Given the description of an element on the screen output the (x, y) to click on. 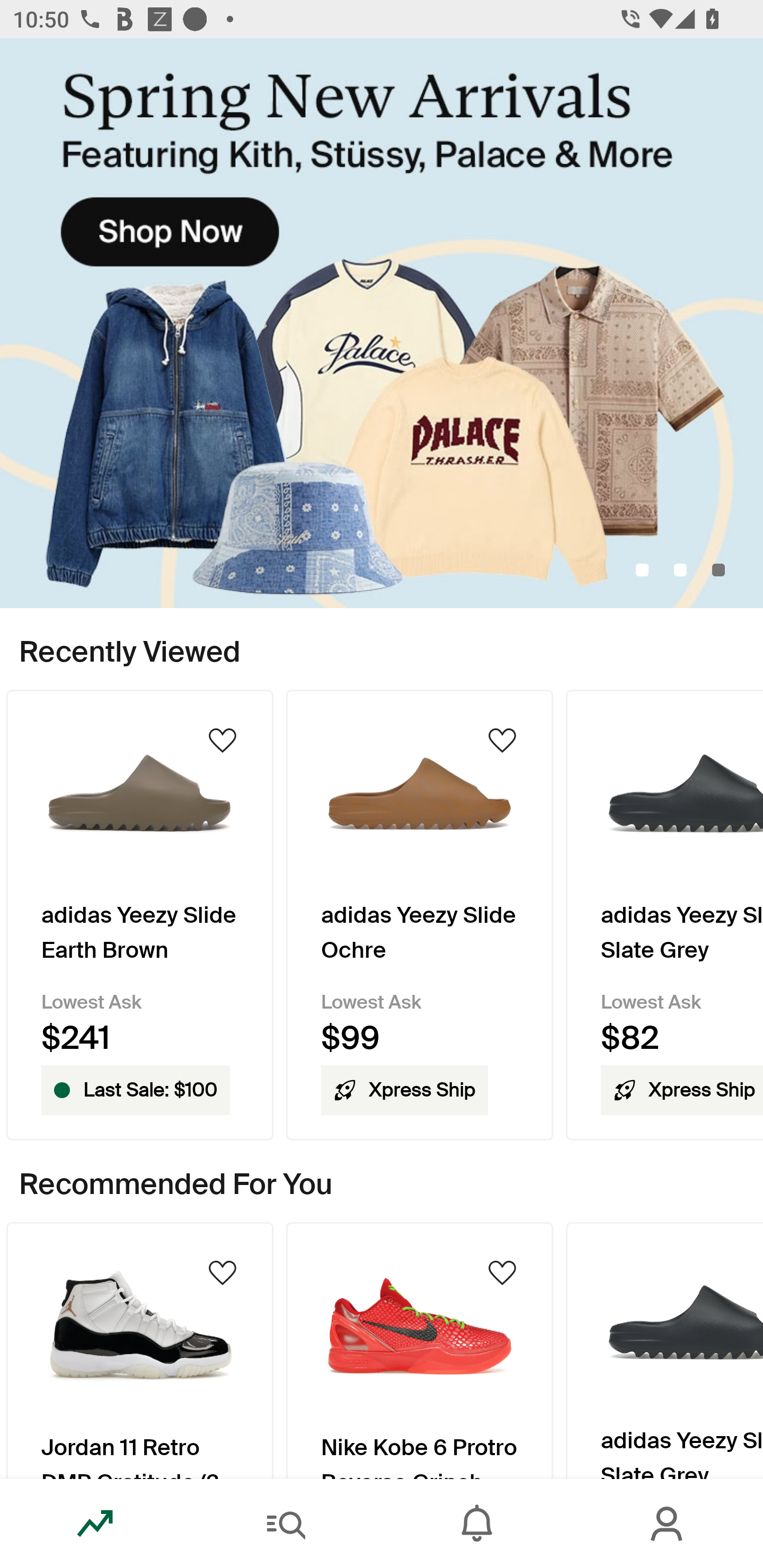
SpringNewArrivals-KithStussy_Primary_Mobile.jpg (381, 322)
Product Image Jordan 11 Retro DMP Gratitude (2023) (139, 1349)
Product Image Nike Kobe 6 Protro Reverse Grinch (419, 1349)
Product Image adidas Yeezy Slide Slate Grey (664, 1349)
Search (285, 1523)
Inbox (476, 1523)
Account (667, 1523)
